Given the description of an element on the screen output the (x, y) to click on. 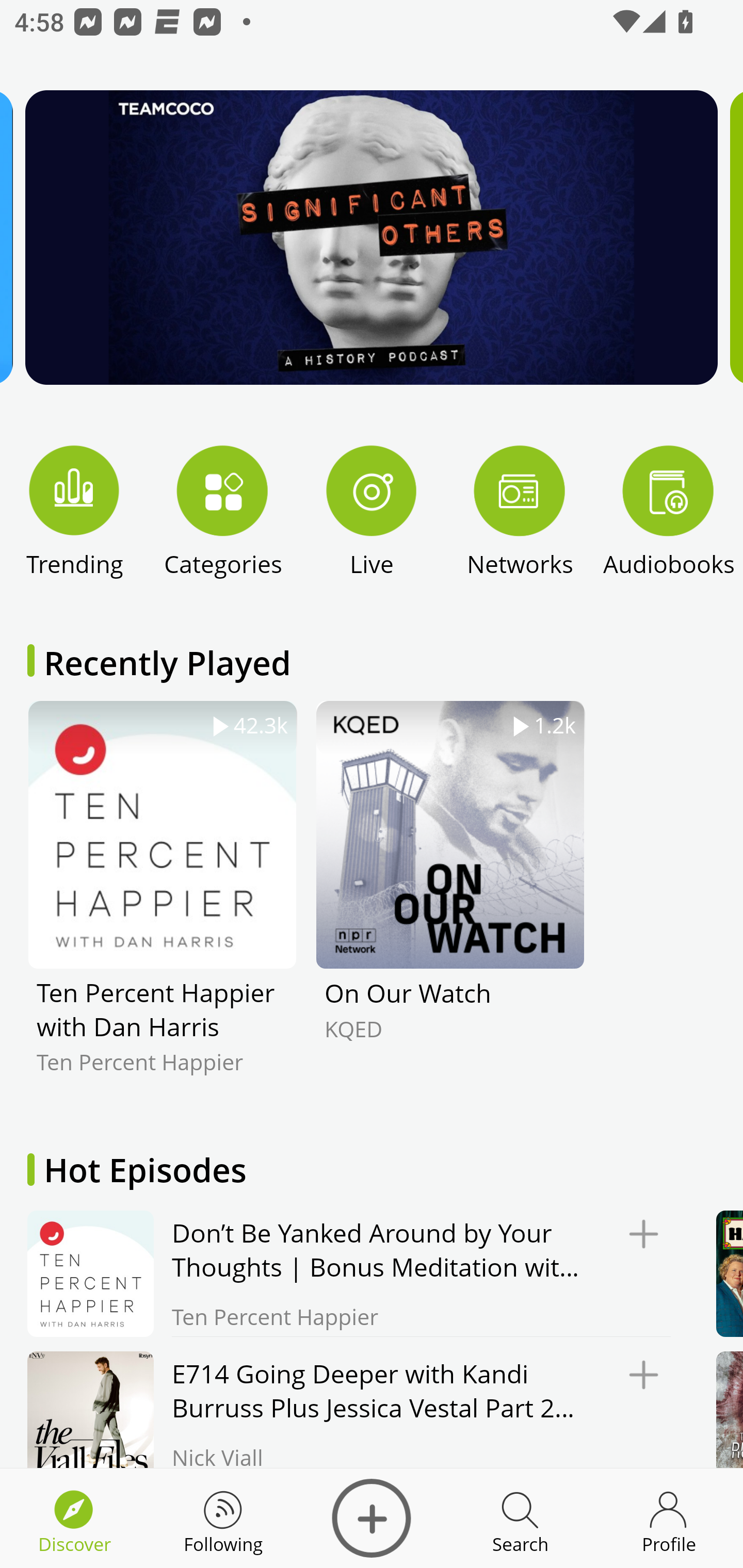
1.2k On Our Watch KQED (450, 902)
Discover Following (222, 1518)
Discover (371, 1518)
Discover Search (519, 1518)
Discover Profile (668, 1518)
